Given the description of an element on the screen output the (x, y) to click on. 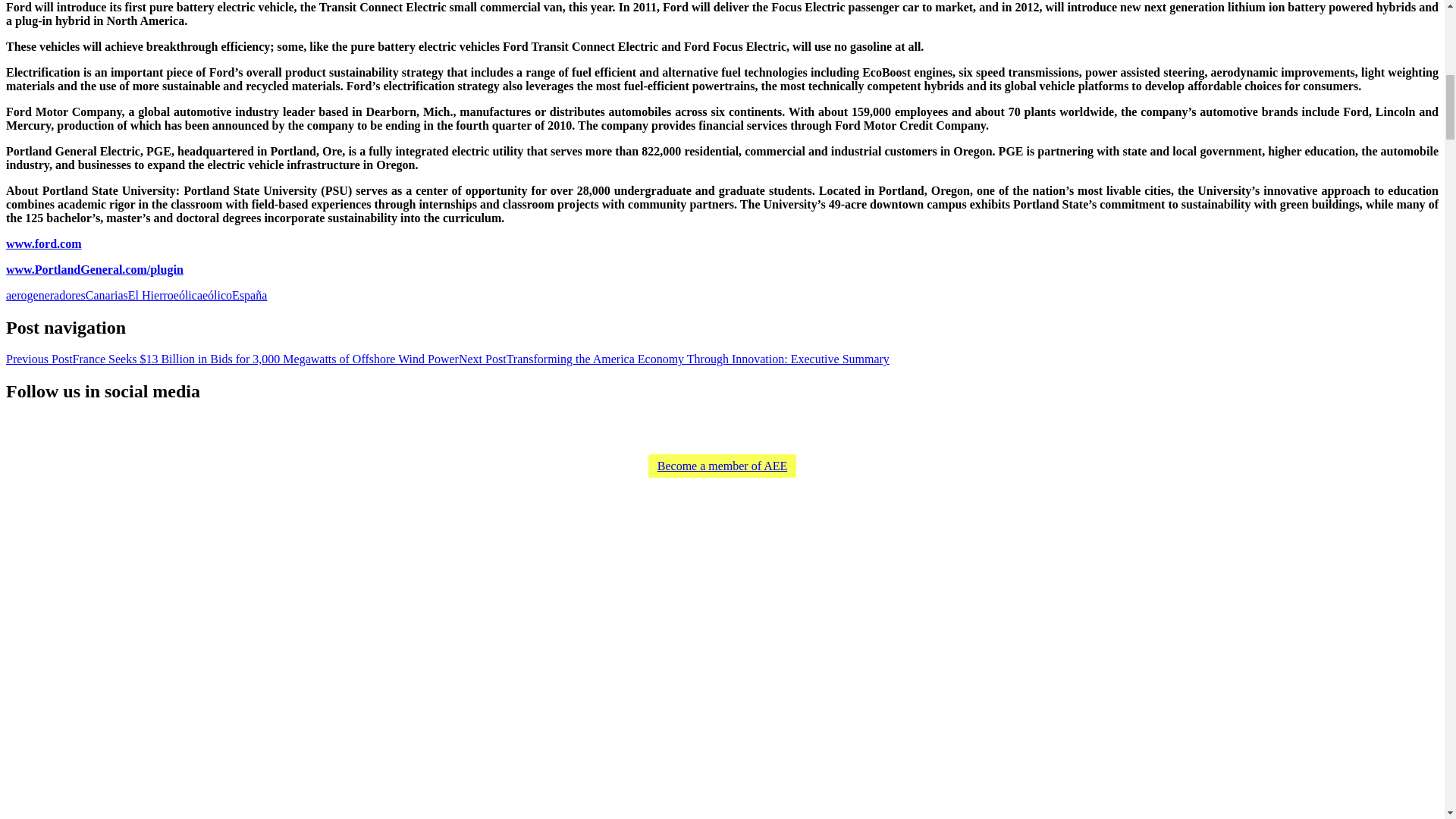
facebook (688, 428)
youtube (712, 428)
aerogeneradores (45, 295)
Become a member of AEE (721, 465)
Canarias (106, 295)
LinkedIn (785, 428)
www.ford.com (43, 243)
RSS (639, 428)
flickr (737, 428)
